Given the description of an element on the screen output the (x, y) to click on. 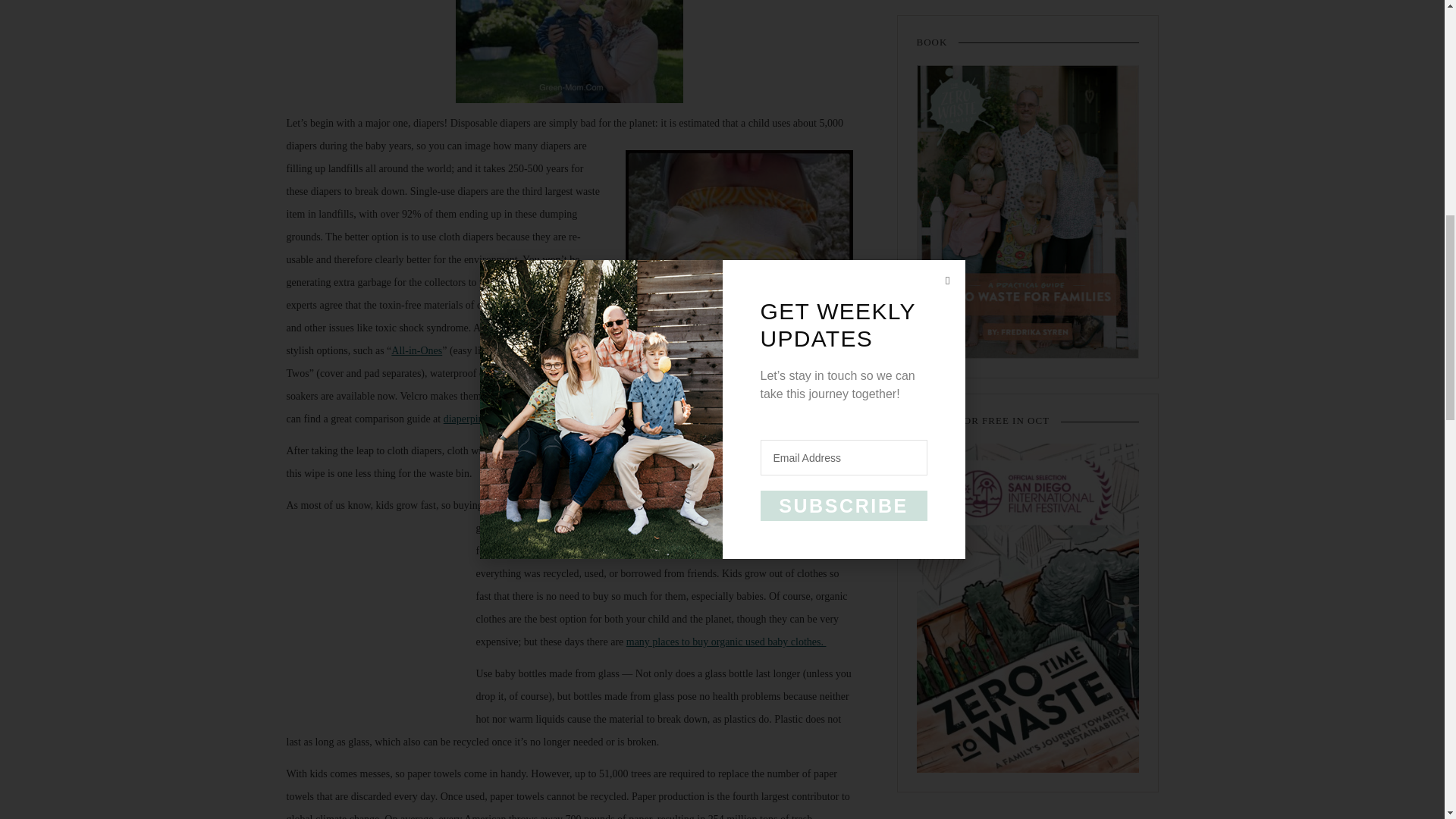
Film (1026, 608)
Book (1026, 212)
